Given the description of an element on the screen output the (x, y) to click on. 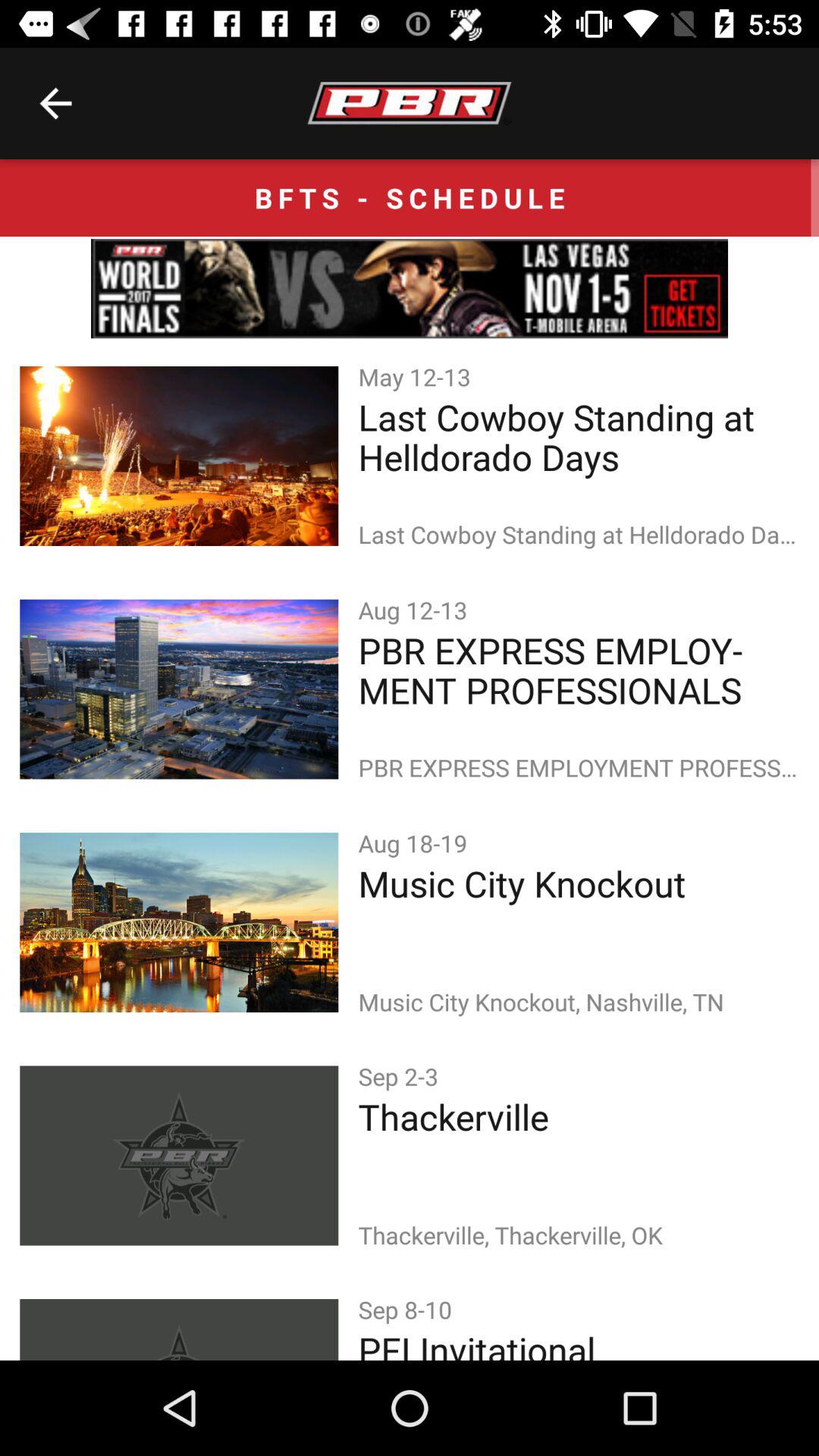
press the icon below the sep 8-10 icon (578, 1342)
